Given the description of an element on the screen output the (x, y) to click on. 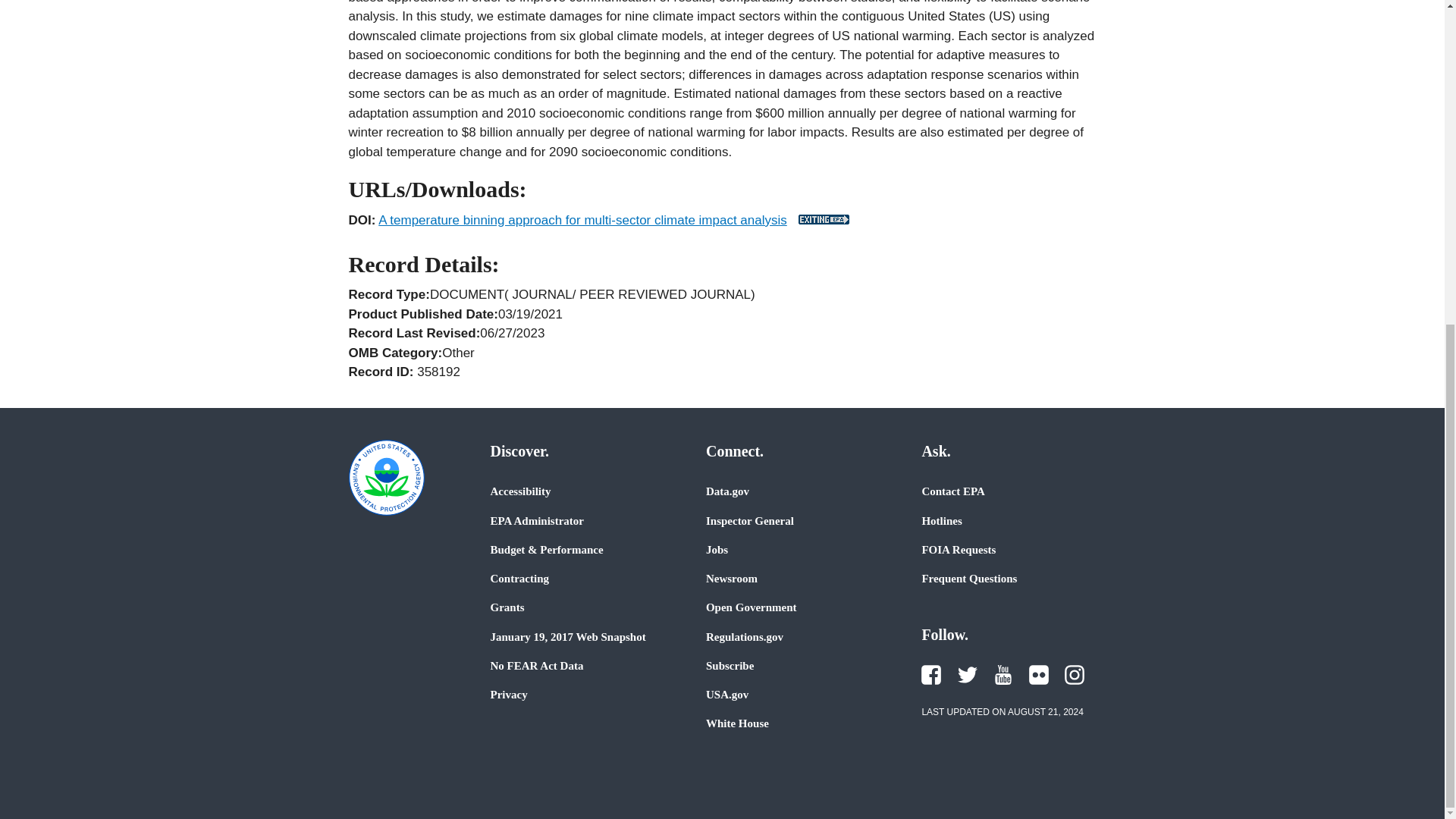
EPA's Facebook (930, 674)
Newsroom (731, 578)
EPA's Flickr (1038, 674)
FOIA Requests (958, 549)
Contracting (518, 578)
EPA Administrator (536, 520)
January 19, 2017 Web Snapshot (567, 636)
No FEAR Act Data (536, 665)
USA.gov (727, 694)
Hotlines (940, 520)
